Given the description of an element on the screen output the (x, y) to click on. 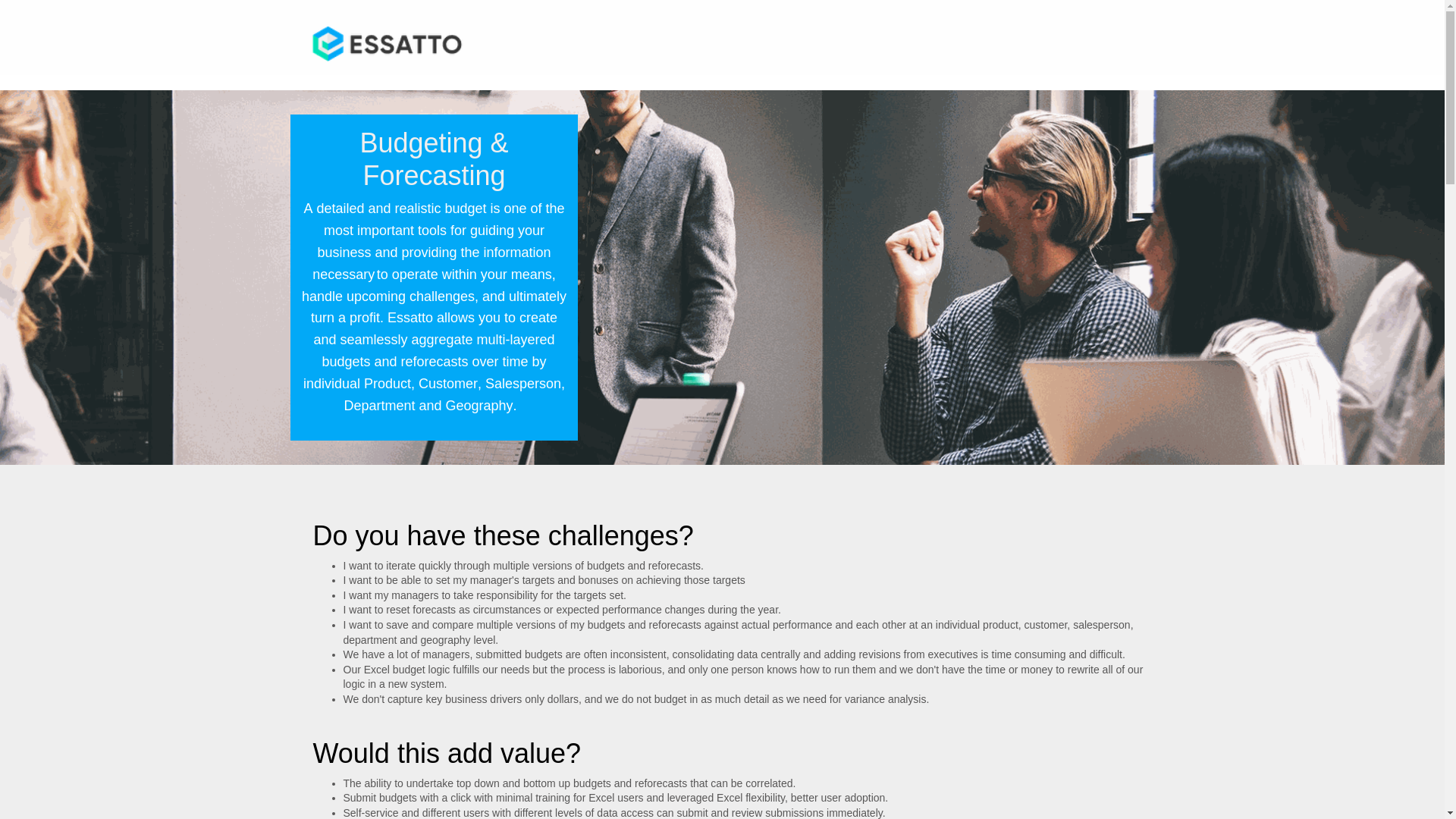
Essatto Website (386, 43)
